Given the description of an element on the screen output the (x, y) to click on. 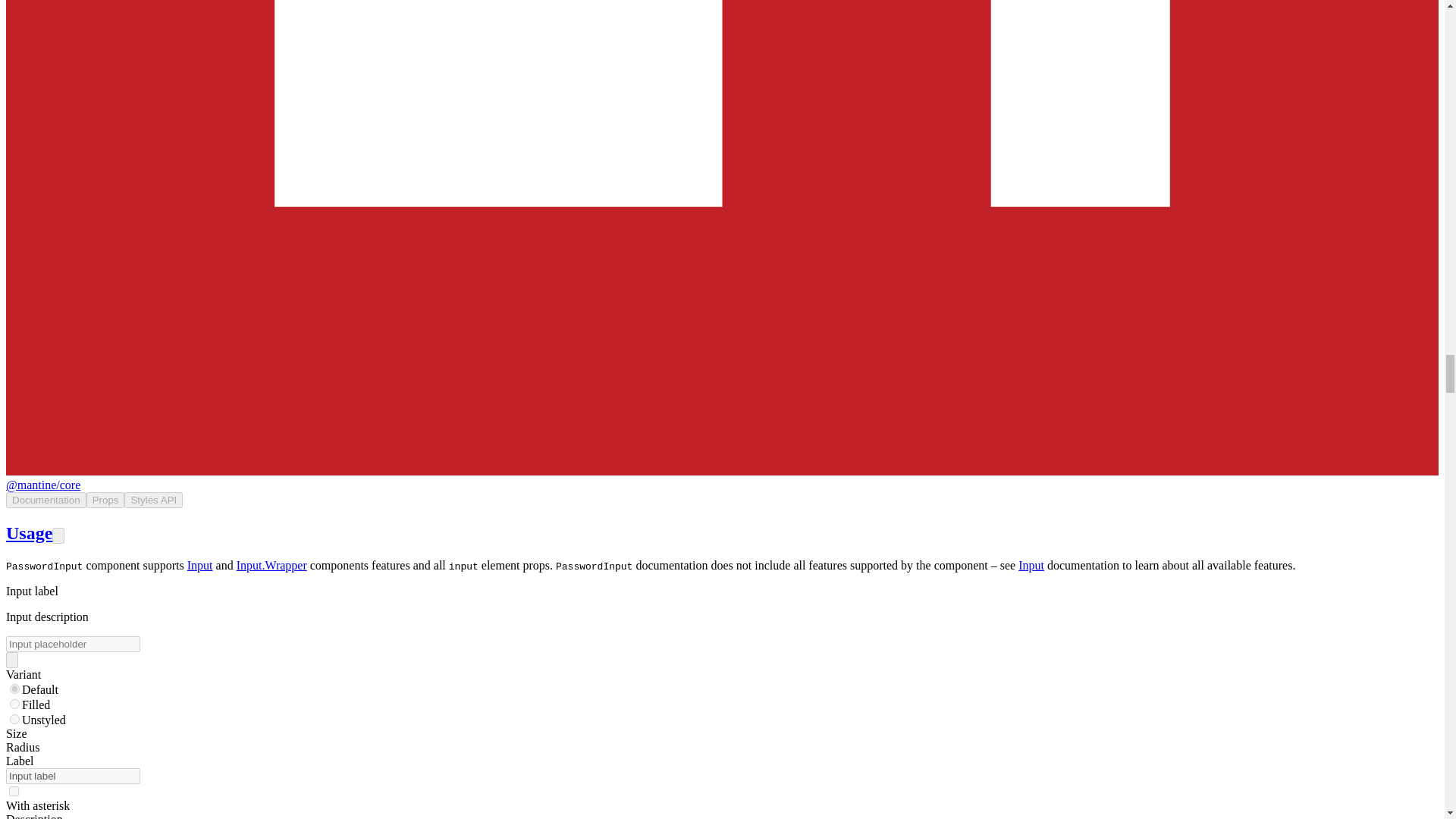
Input label (72, 775)
unstyled (15, 718)
filled (15, 704)
on (13, 791)
default (15, 688)
